Given the description of an element on the screen output the (x, y) to click on. 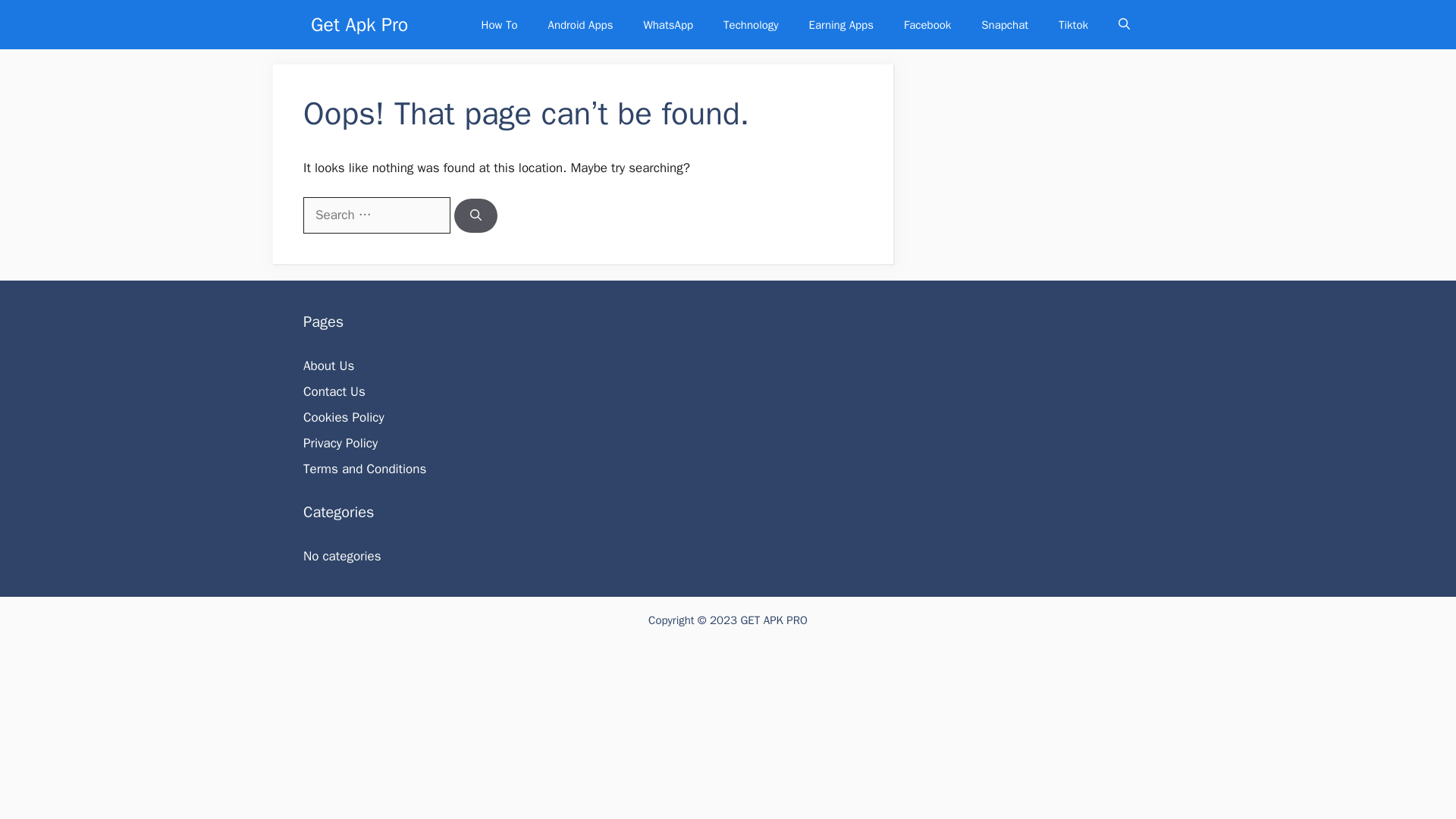
Facebook (927, 23)
How To (498, 23)
Contact Us (333, 391)
Terms and Conditions (364, 468)
Android Apps (579, 23)
Get Apk Pro (359, 24)
WhatsApp (667, 23)
Earning Apps (840, 23)
Snapchat (1004, 23)
Technology (750, 23)
